Given the description of an element on the screen output the (x, y) to click on. 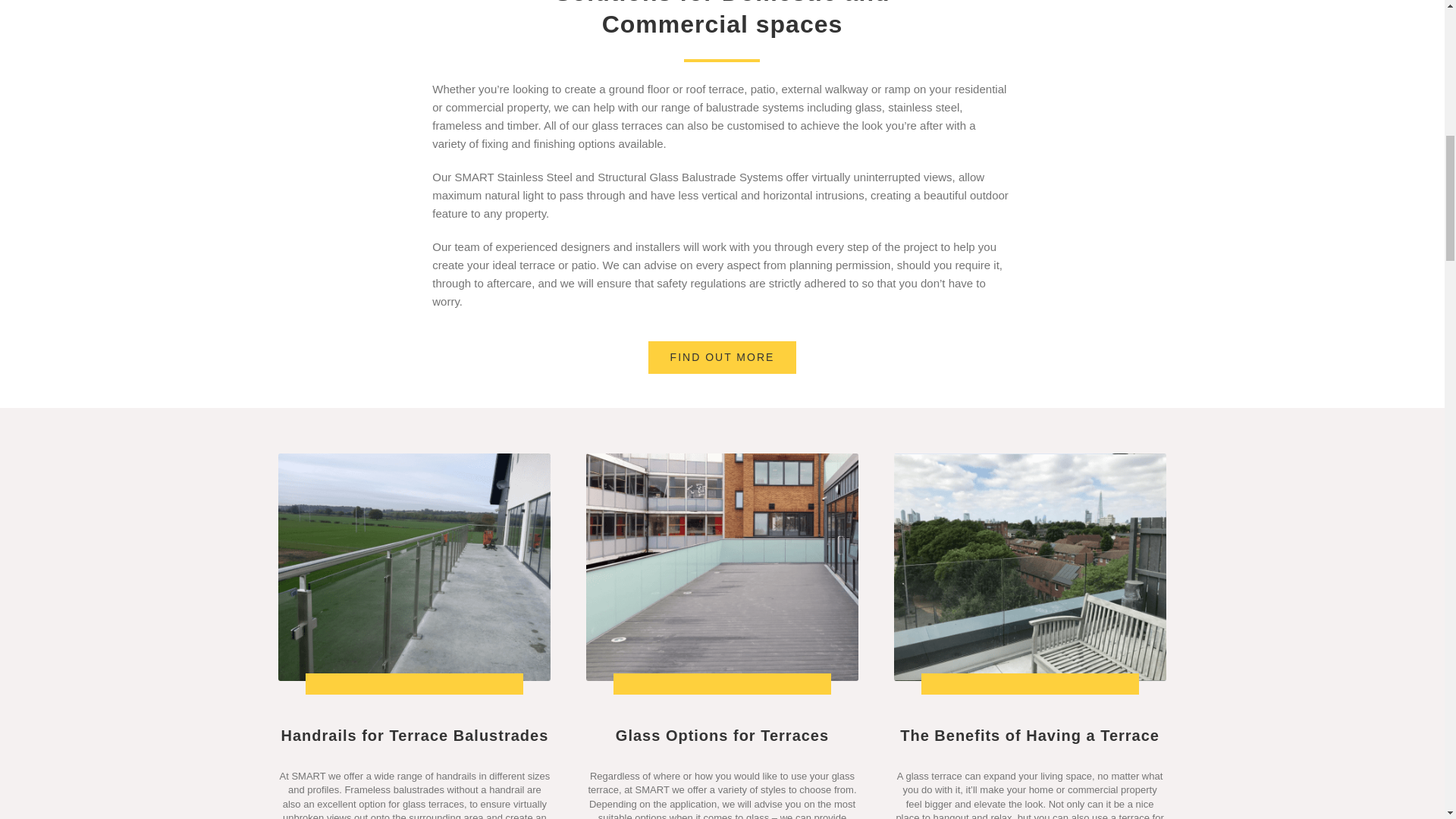
Terrace Views (1029, 567)
Handrails For Terraces (414, 567)
Frosted Balustrade Glass (722, 567)
